Given the description of an element on the screen output the (x, y) to click on. 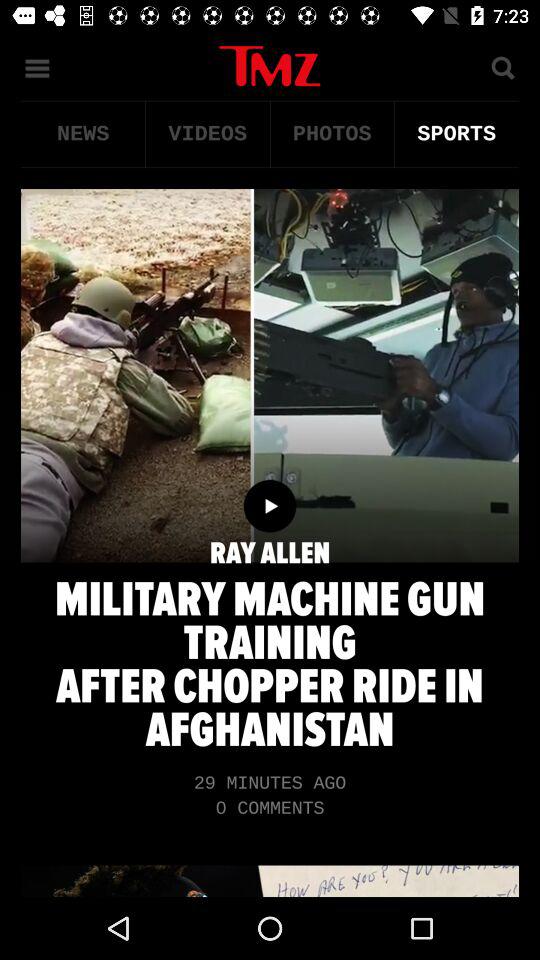
press the app next to the sports icon (332, 133)
